Given the description of an element on the screen output the (x, y) to click on. 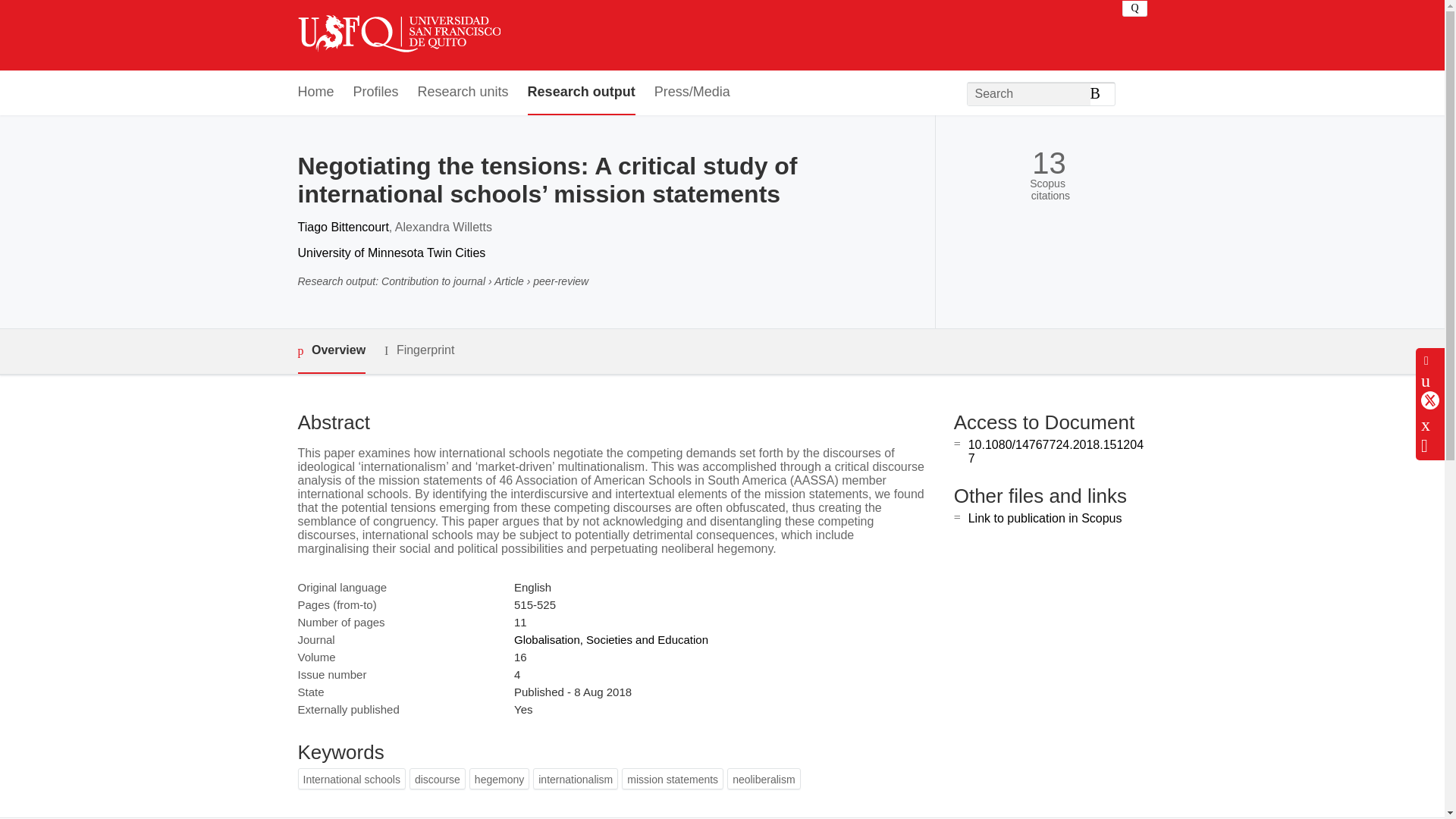
Globalisation, Societies and Education (610, 639)
Link to publication in Scopus (1045, 517)
Home (315, 92)
Research output (580, 92)
Tiago Bittencourt (342, 226)
Research units (462, 92)
Profiles (375, 92)
Fingerprint (419, 350)
Universidad San Francisco de Quito USFQ Home (398, 35)
University of Minnesota Twin Cities (390, 252)
Overview (331, 351)
